Given the description of an element on the screen output the (x, y) to click on. 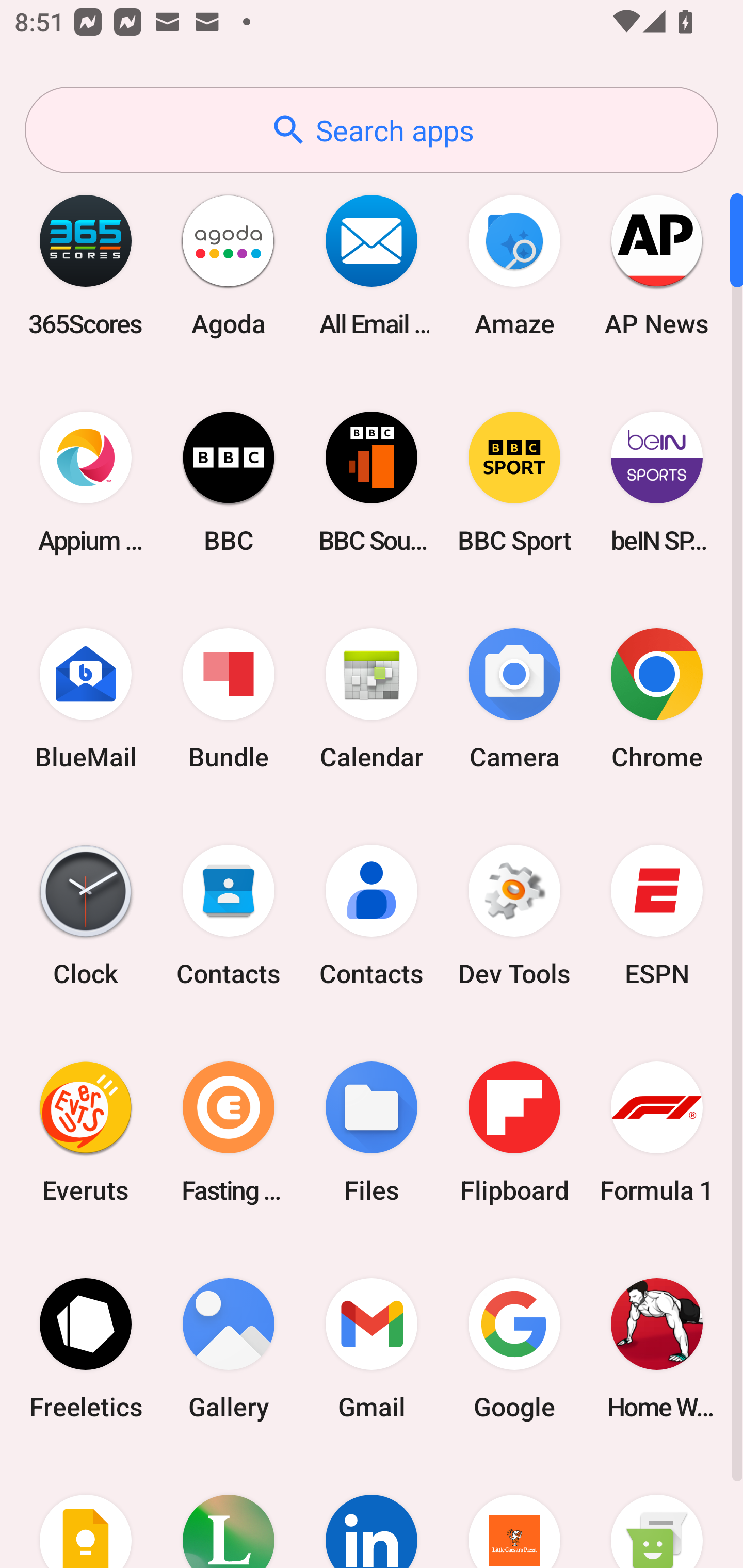
  Search apps (371, 130)
365Scores (85, 264)
Agoda (228, 264)
All Email Connect (371, 264)
Amaze (514, 264)
AP News (656, 264)
Appium Settings (85, 482)
BBC (228, 482)
BBC Sounds (371, 482)
BBC Sport (514, 482)
beIN SPORTS (656, 482)
BlueMail (85, 699)
Bundle (228, 699)
Calendar (371, 699)
Camera (514, 699)
Chrome (656, 699)
Clock (85, 915)
Contacts (228, 915)
Contacts (371, 915)
Dev Tools (514, 915)
ESPN (656, 915)
Everuts (85, 1131)
Fasting Coach (228, 1131)
Files (371, 1131)
Flipboard (514, 1131)
Formula 1 (656, 1131)
Freeletics (85, 1348)
Gallery (228, 1348)
Gmail (371, 1348)
Google (514, 1348)
Home Workout (656, 1348)
Keep Notes (85, 1512)
Lifesum (228, 1512)
LinkedIn (371, 1512)
Little Caesars Pizza (514, 1512)
Messaging (656, 1512)
